Given the description of an element on the screen output the (x, y) to click on. 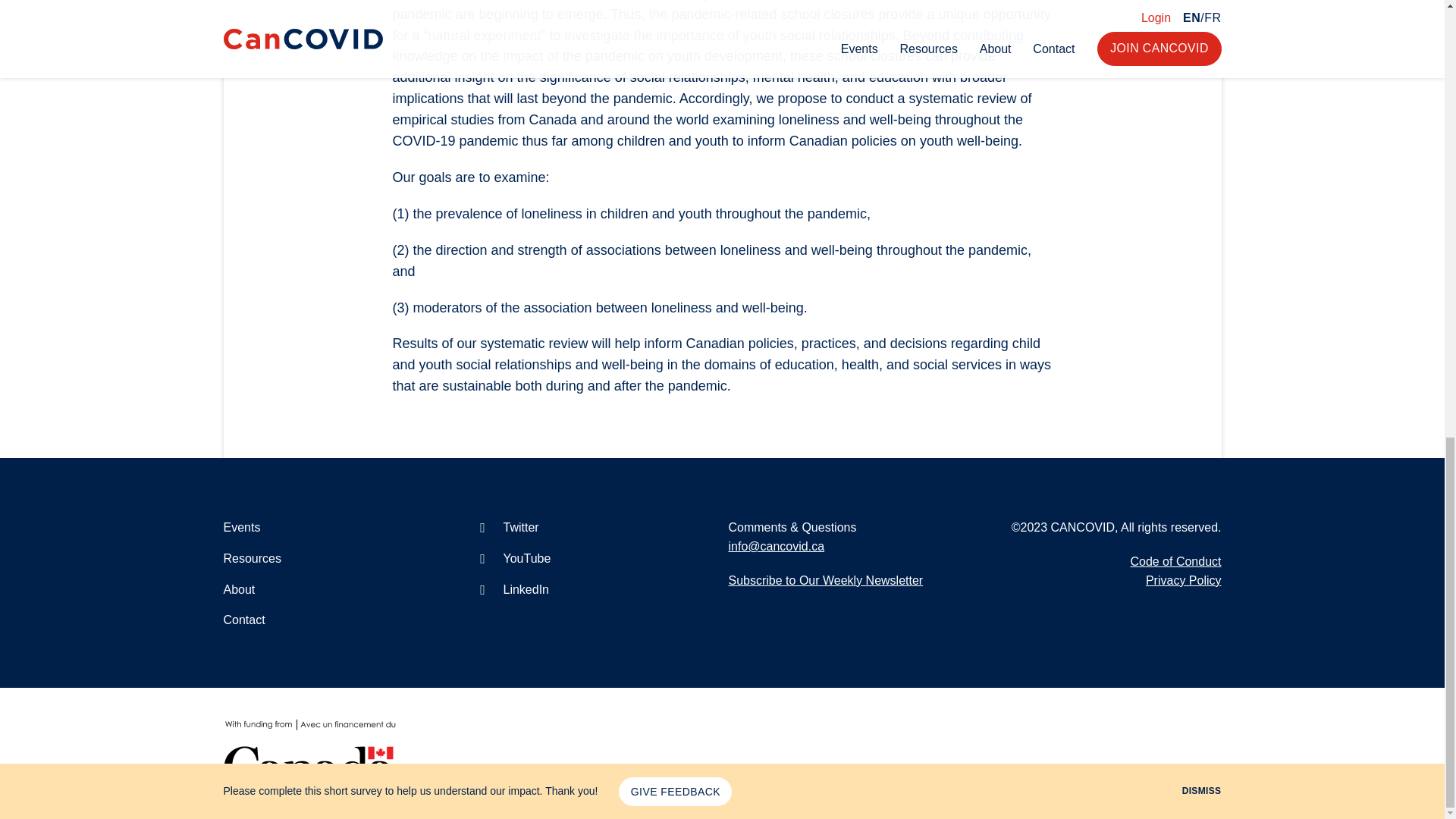
YouTube (513, 558)
Resources (251, 558)
Privacy Policy (1183, 580)
Contact (243, 619)
Events (241, 526)
LinkedIn (513, 589)
Code of Conduct (1175, 561)
About (238, 589)
Subscribe to Our Weekly Newsletter (825, 580)
Twitter (507, 526)
